Given the description of an element on the screen output the (x, y) to click on. 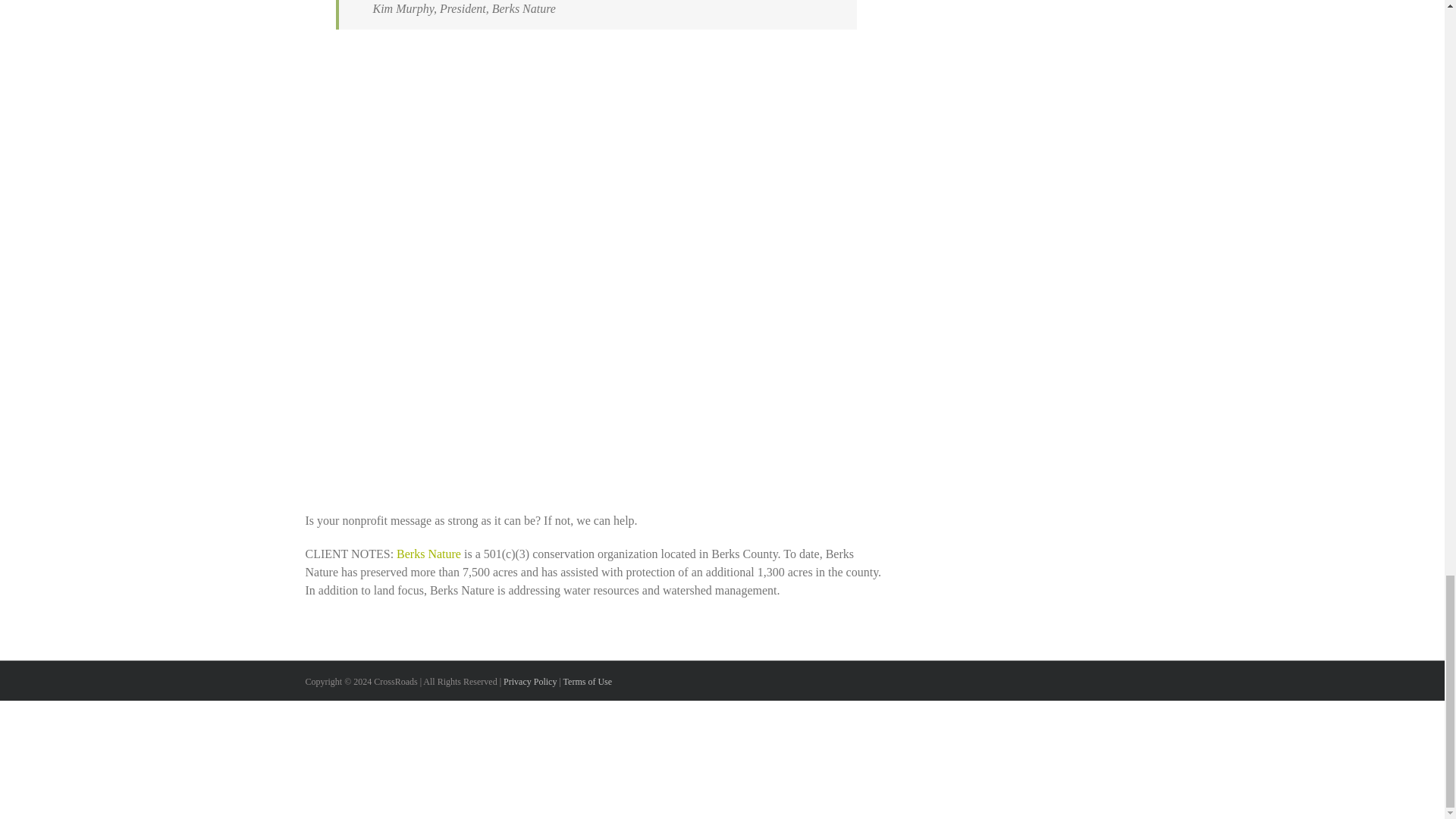
Terms of Use (587, 681)
Privacy Policy (529, 681)
Berks Nature (428, 553)
